Given the description of an element on the screen output the (x, y) to click on. 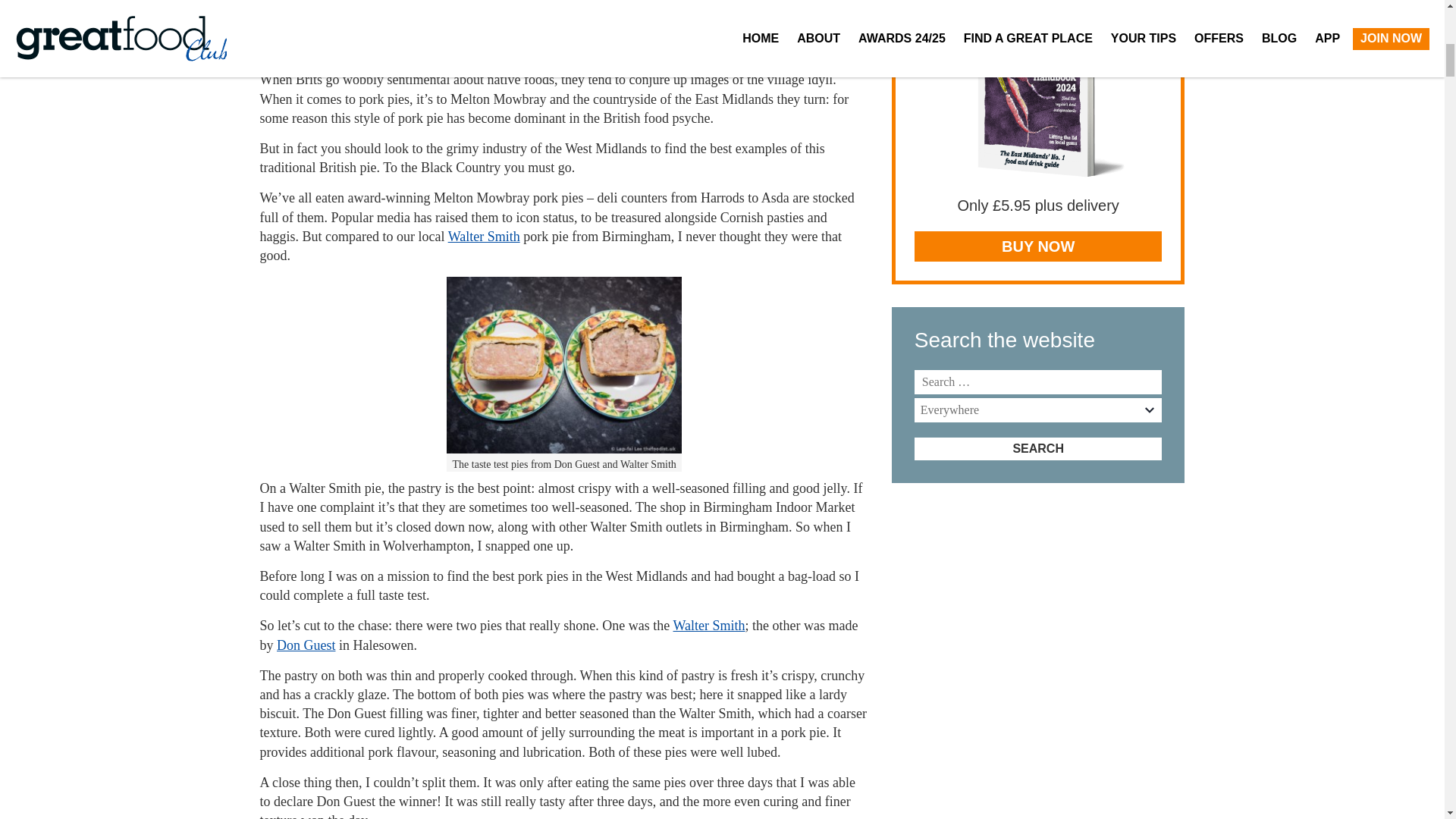
Walter Smith (483, 236)
Walter Smith (708, 625)
Search (1037, 448)
Search (1037, 448)
BUY NOW (1037, 245)
Search (1037, 448)
Don Guest (306, 645)
